Given the description of an element on the screen output the (x, y) to click on. 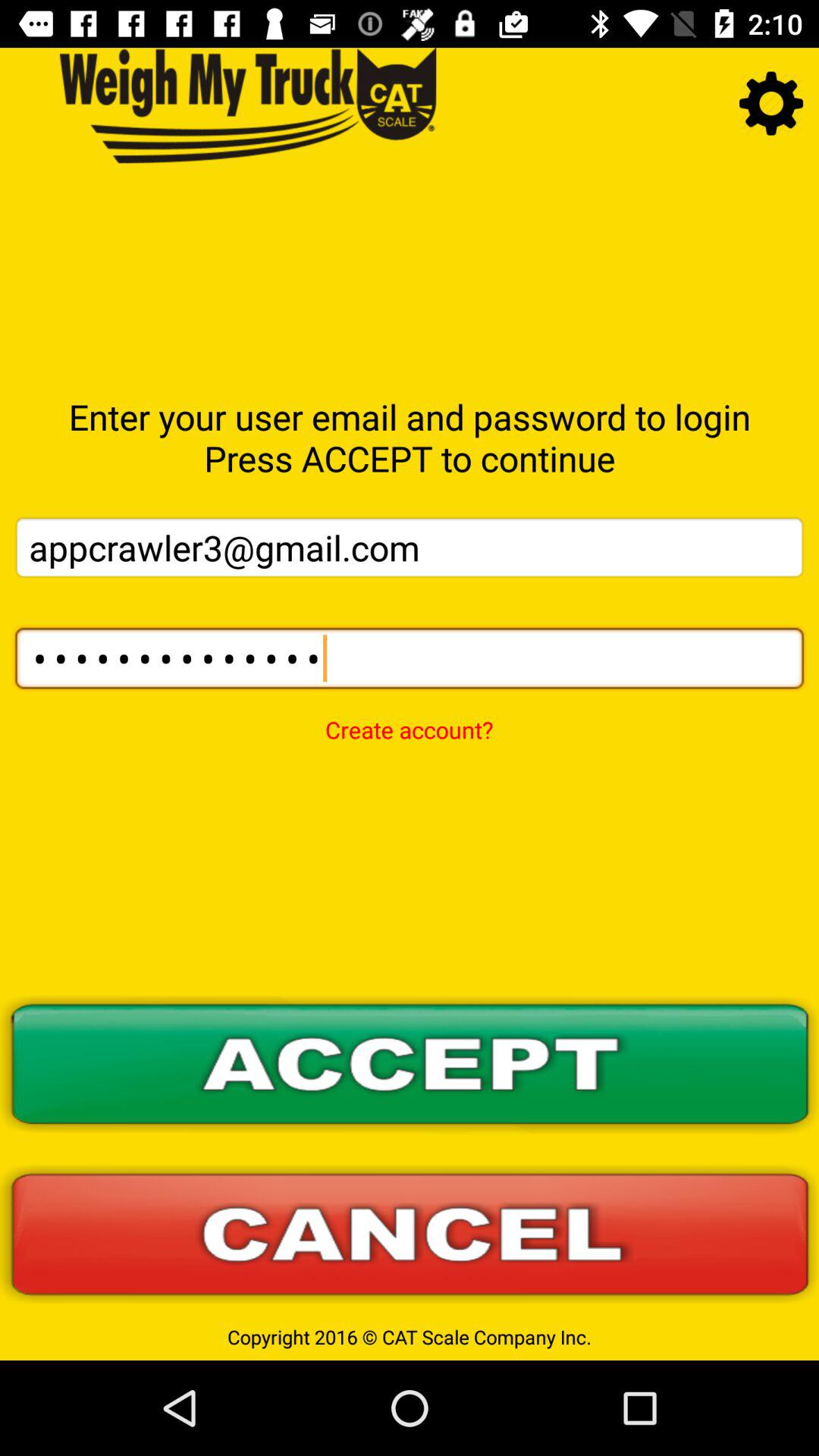
choose the item above the enter your user icon (771, 103)
